Given the description of an element on the screen output the (x, y) to click on. 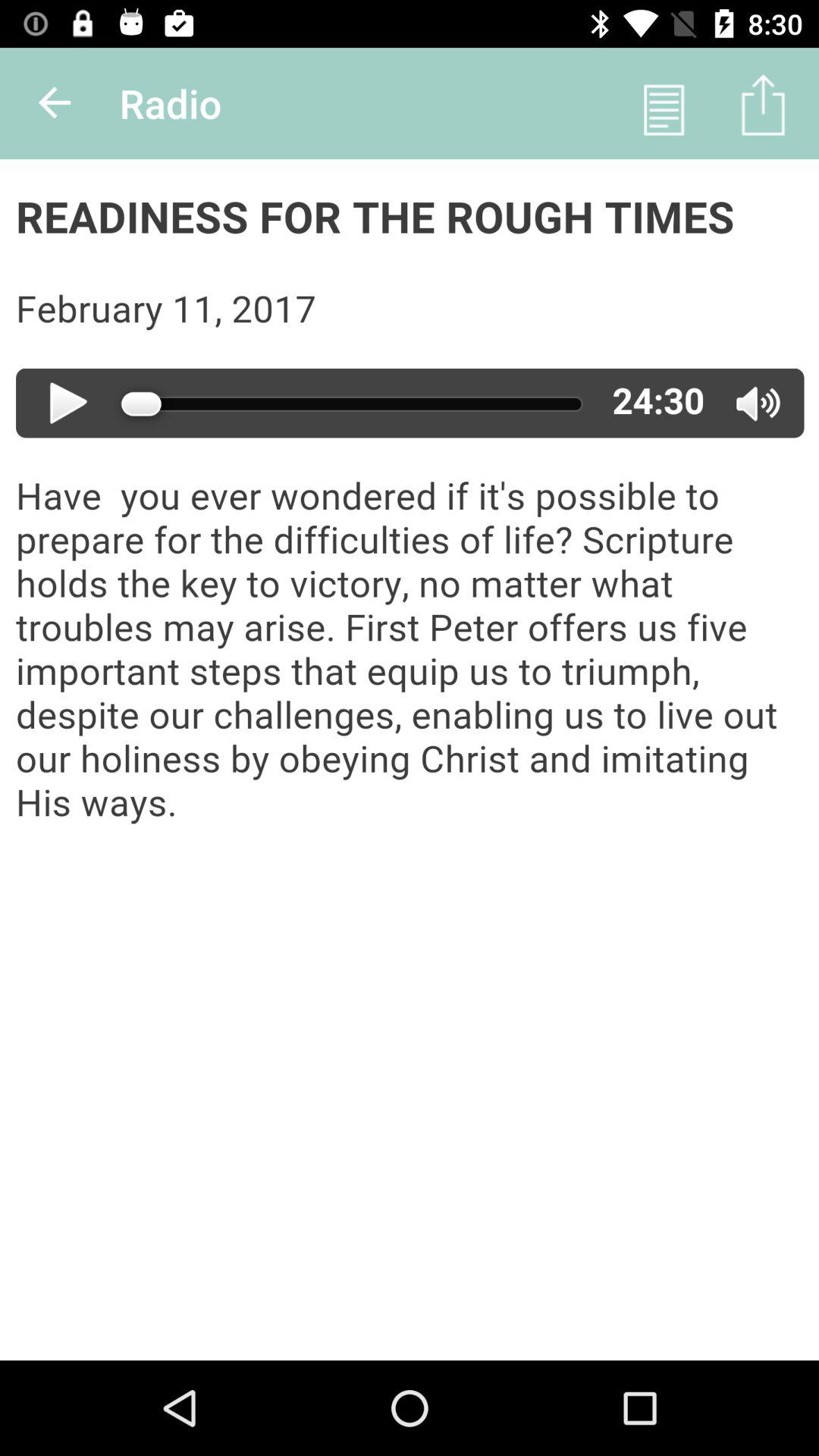
go back (55, 103)
